Given the description of an element on the screen output the (x, y) to click on. 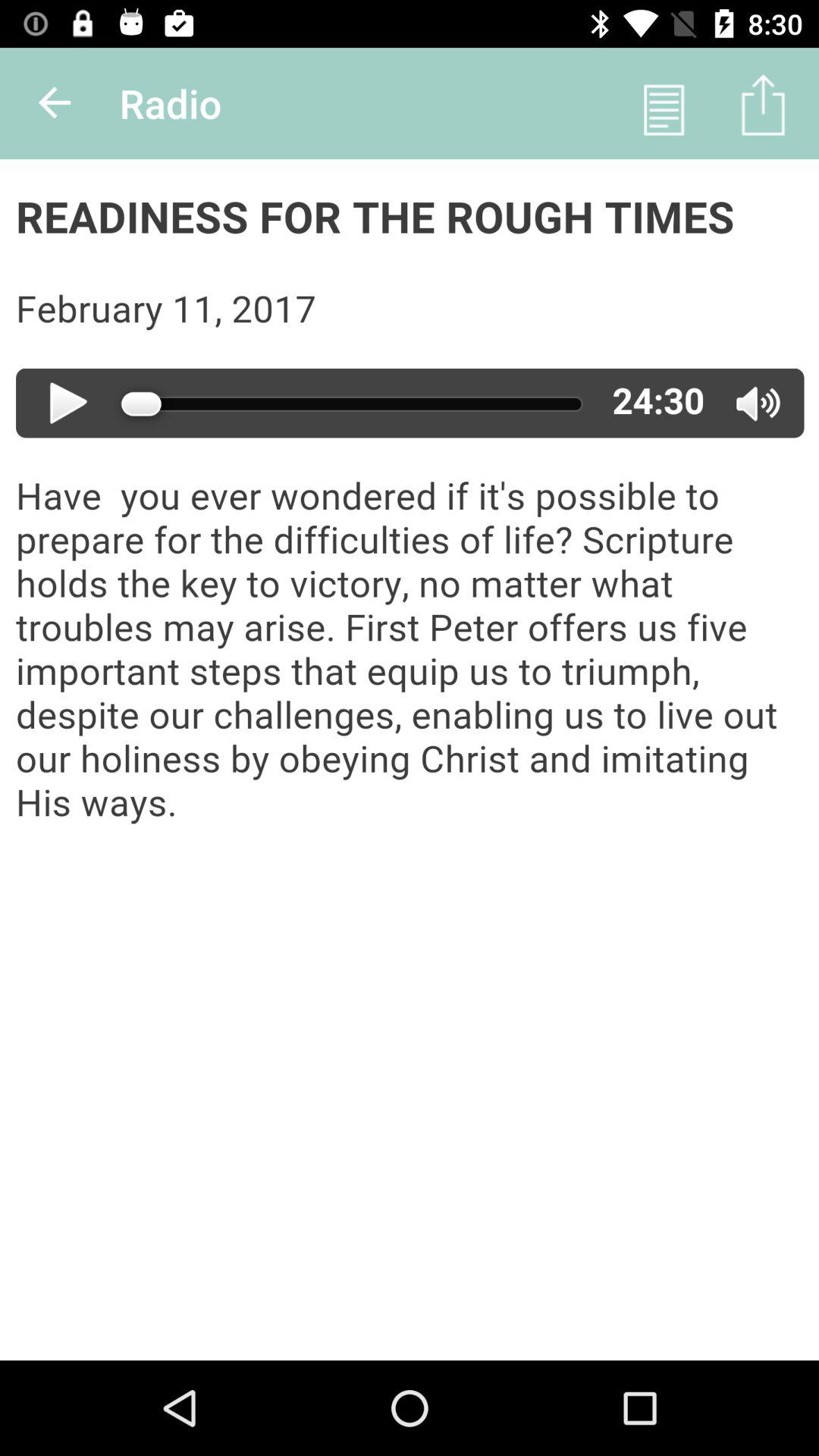
go back (55, 103)
